Given the description of an element on the screen output the (x, y) to click on. 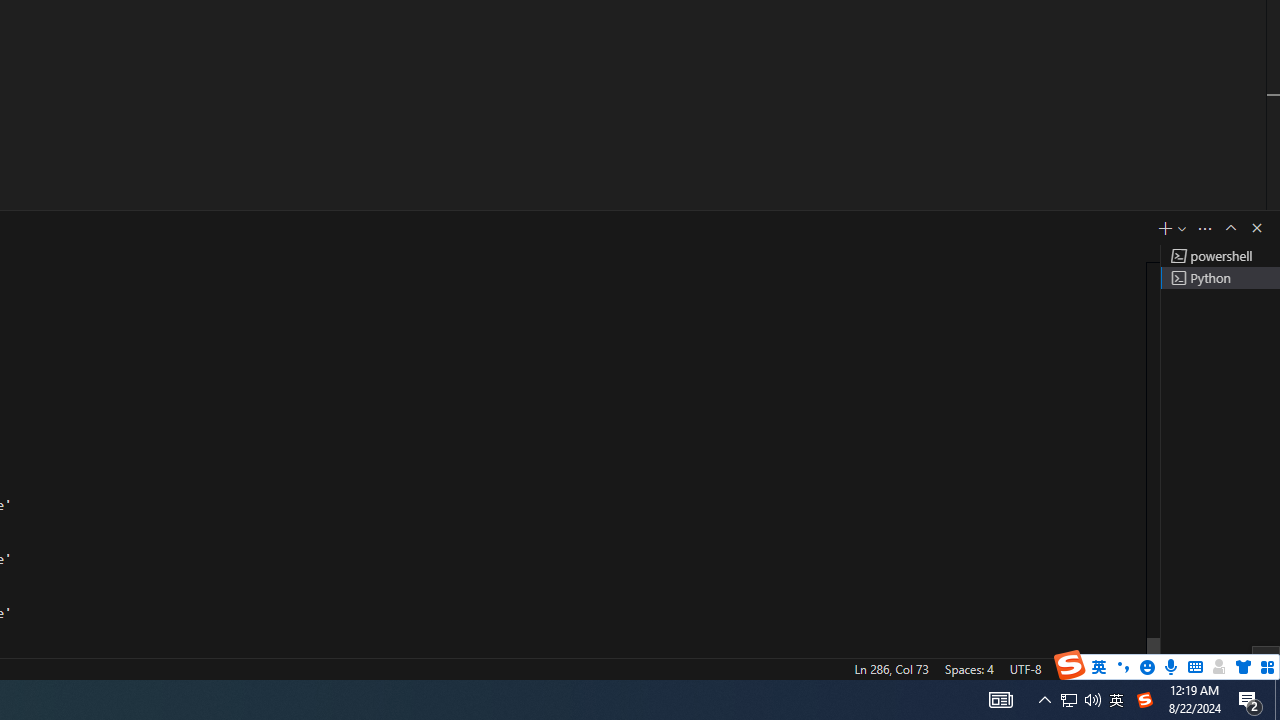
Launch Profile... (1181, 227)
